Given the description of an element on the screen output the (x, y) to click on. 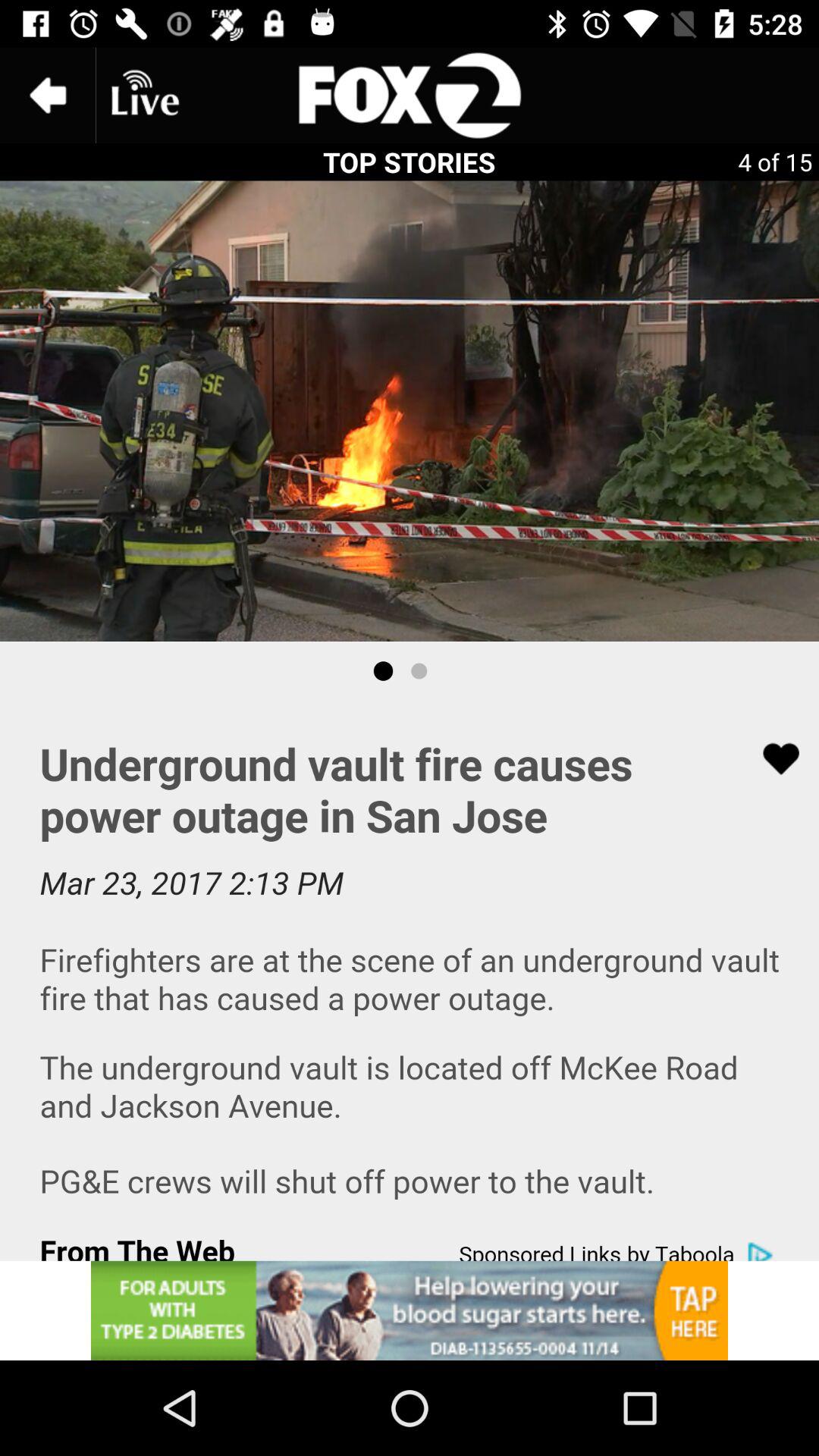
searching page (409, 95)
